Given the description of an element on the screen output the (x, y) to click on. 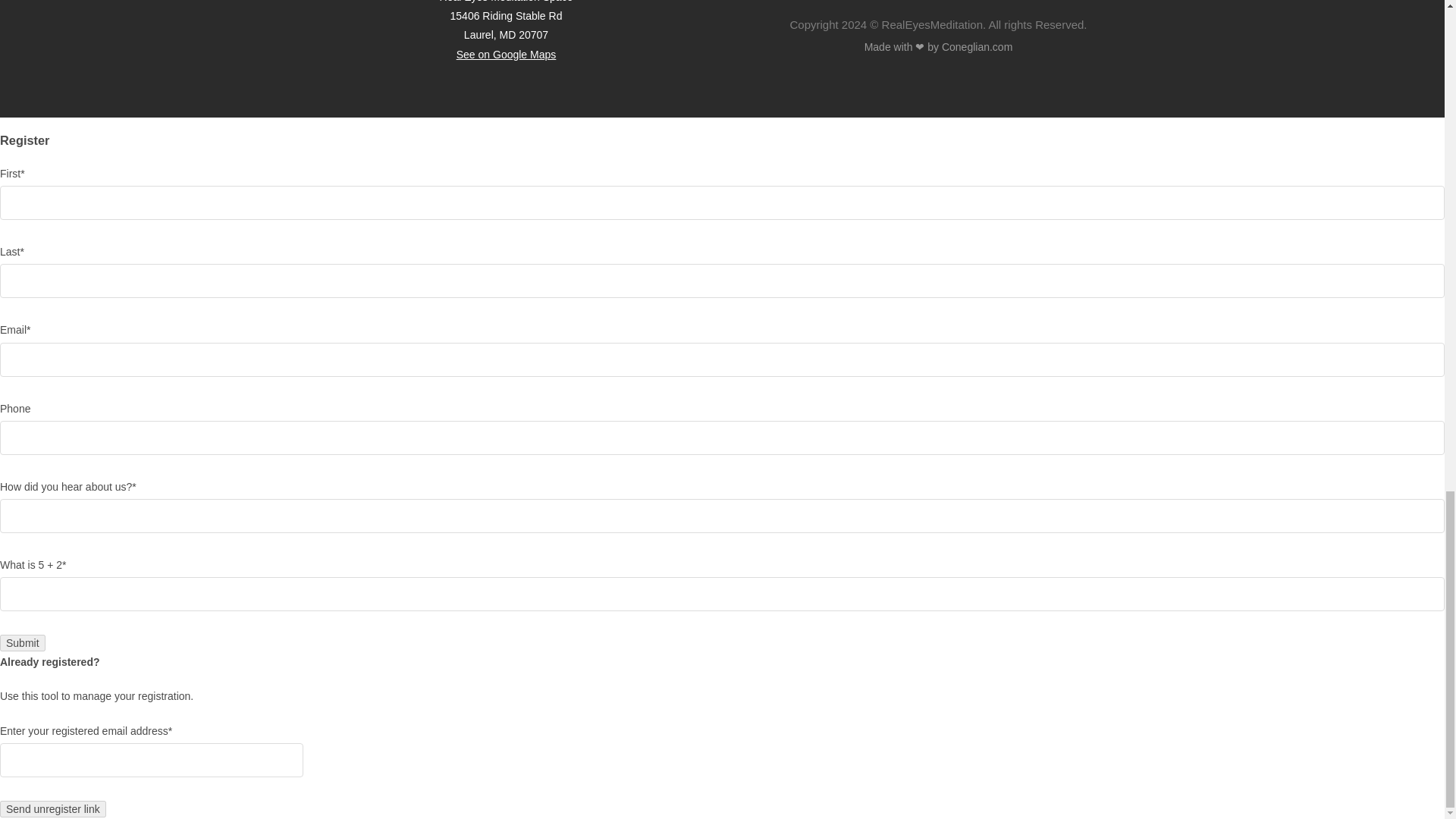
Send unregister link (53, 808)
Submit (22, 642)
